Given the description of an element on the screen output the (x, y) to click on. 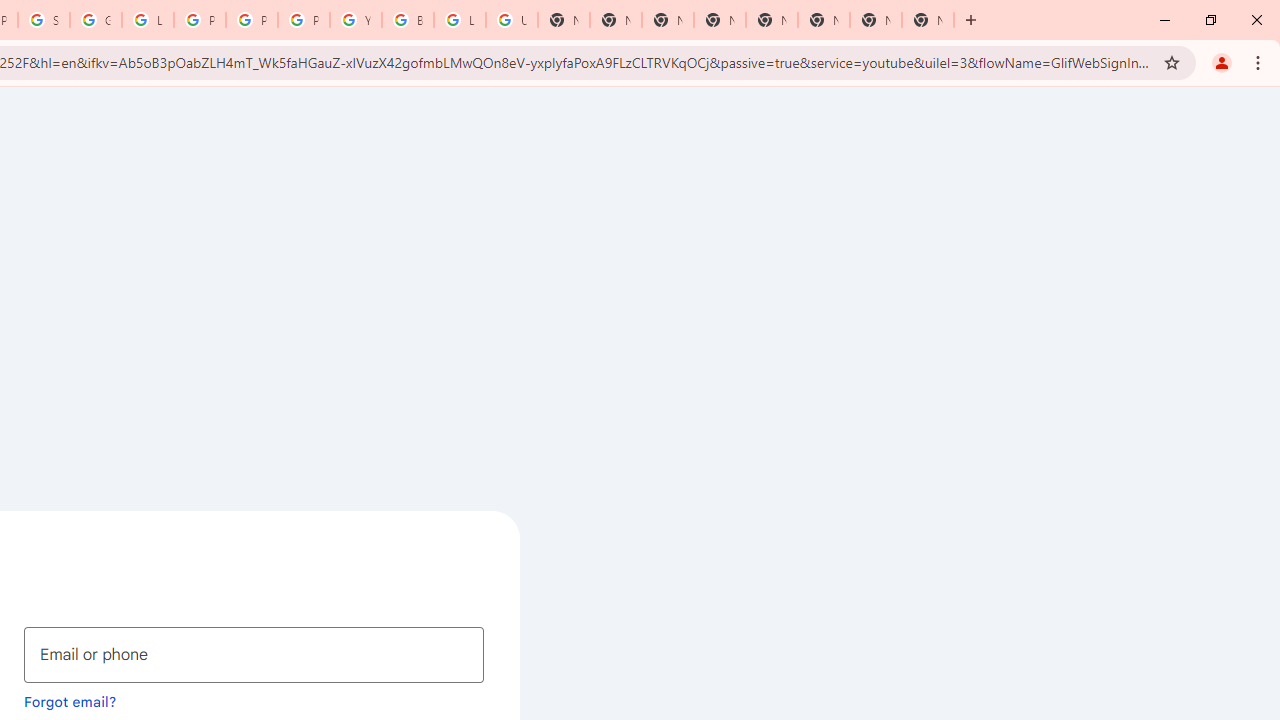
Email or phone (253, 654)
YouTube (355, 20)
New Tab (667, 20)
Privacy Help Center - Policies Help (251, 20)
Sign in - Google Accounts (43, 20)
Privacy Help Center - Policies Help (200, 20)
